Given the description of an element on the screen output the (x, y) to click on. 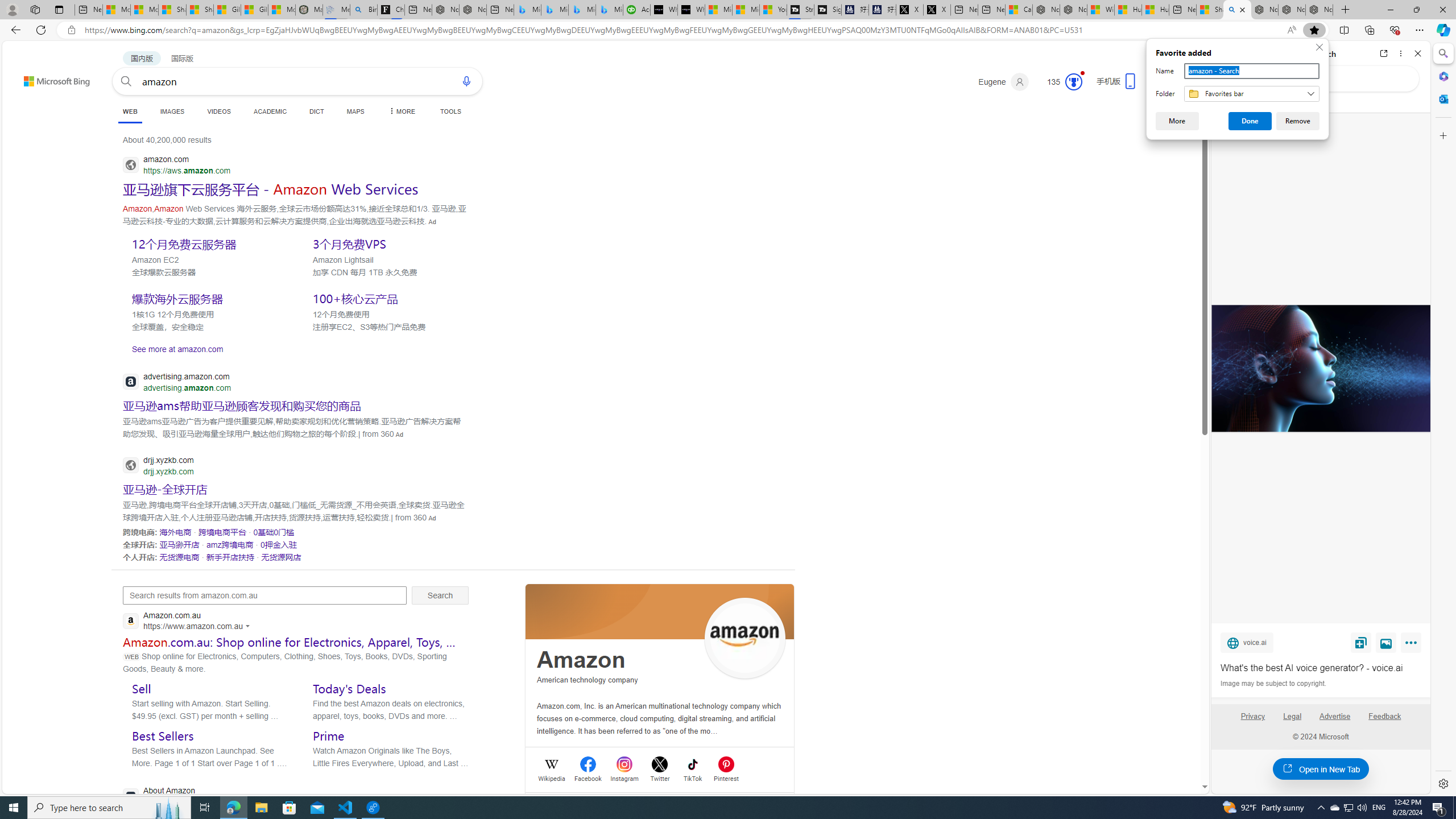
Tray Input Indicator - English (United States) (1378, 807)
WEB (129, 111)
VIDEOS (218, 111)
Image may be subject to copyright. (1273, 682)
ACADEMIC (269, 111)
Pinterest (726, 777)
Search using voice (465, 80)
American technology company (587, 679)
TikTok (692, 777)
Class: medal-svg-animation (1073, 81)
